Given the description of an element on the screen output the (x, y) to click on. 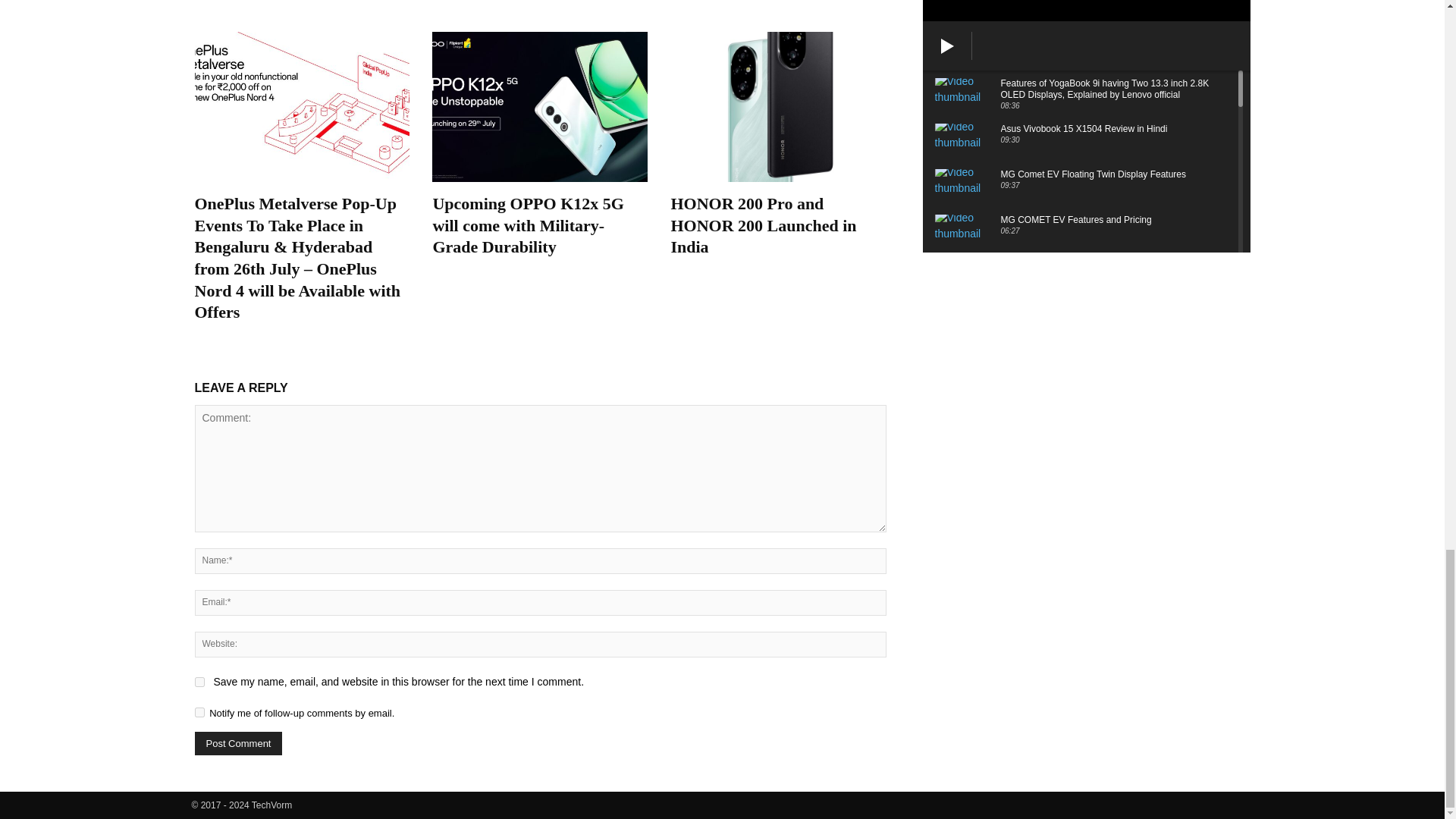
yes (198, 682)
Post Comment (237, 743)
subscribe (198, 712)
